Given the description of an element on the screen output the (x, y) to click on. 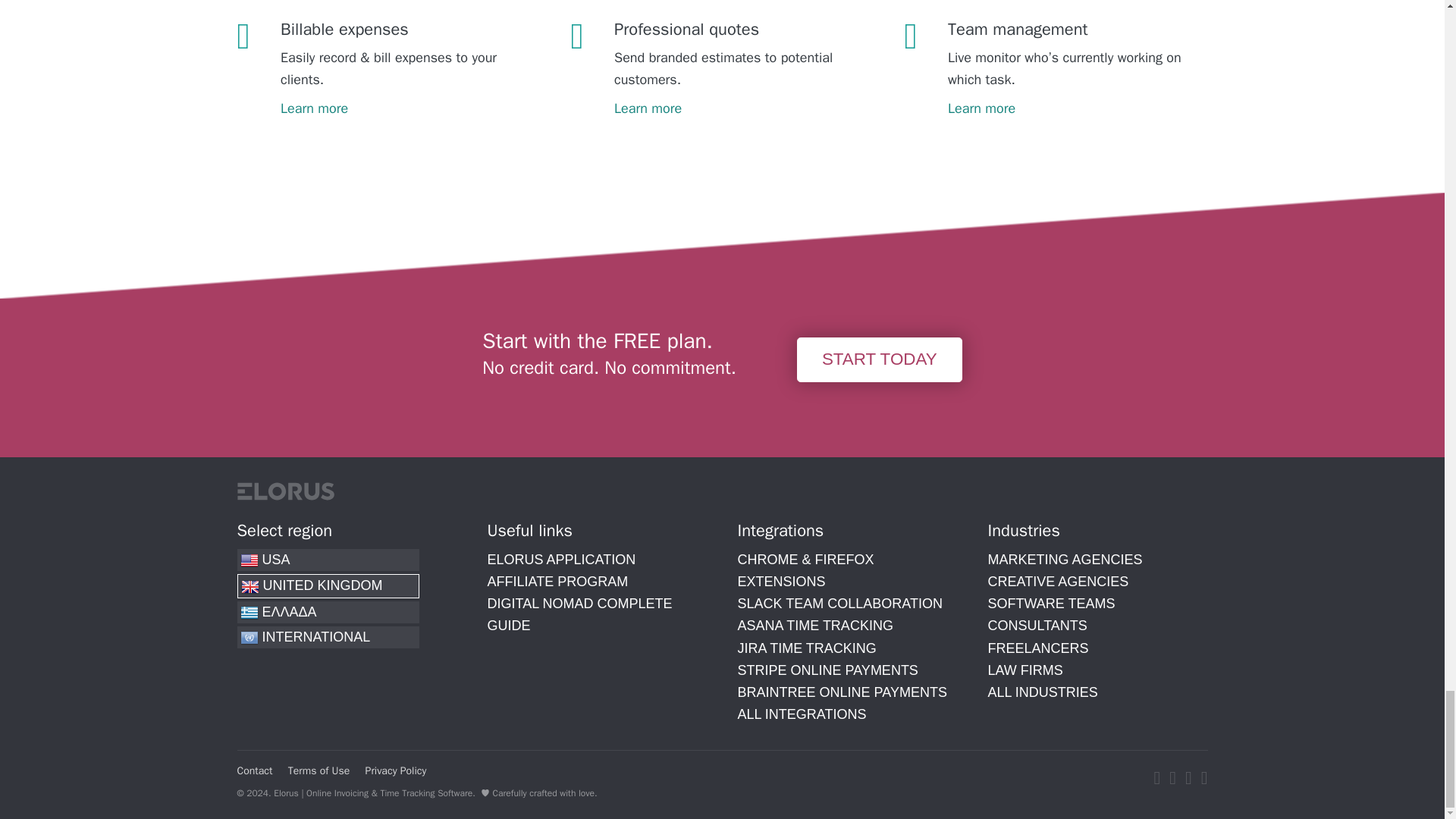
Elorus - Asana Time Tracking Integration (814, 625)
Login to Elorus (560, 559)
Elorus - Stripe Integration (826, 670)
Learn more (1072, 105)
Learn more (406, 105)
UNITED KINGDOM (328, 585)
USA (327, 559)
Digital Nomads: A Complete Guide (578, 614)
START TODAY (879, 359)
Learn more (739, 105)
Elorus - Jira Time Tracking Integration (806, 648)
Integrations (801, 713)
